Given the description of an element on the screen output the (x, y) to click on. 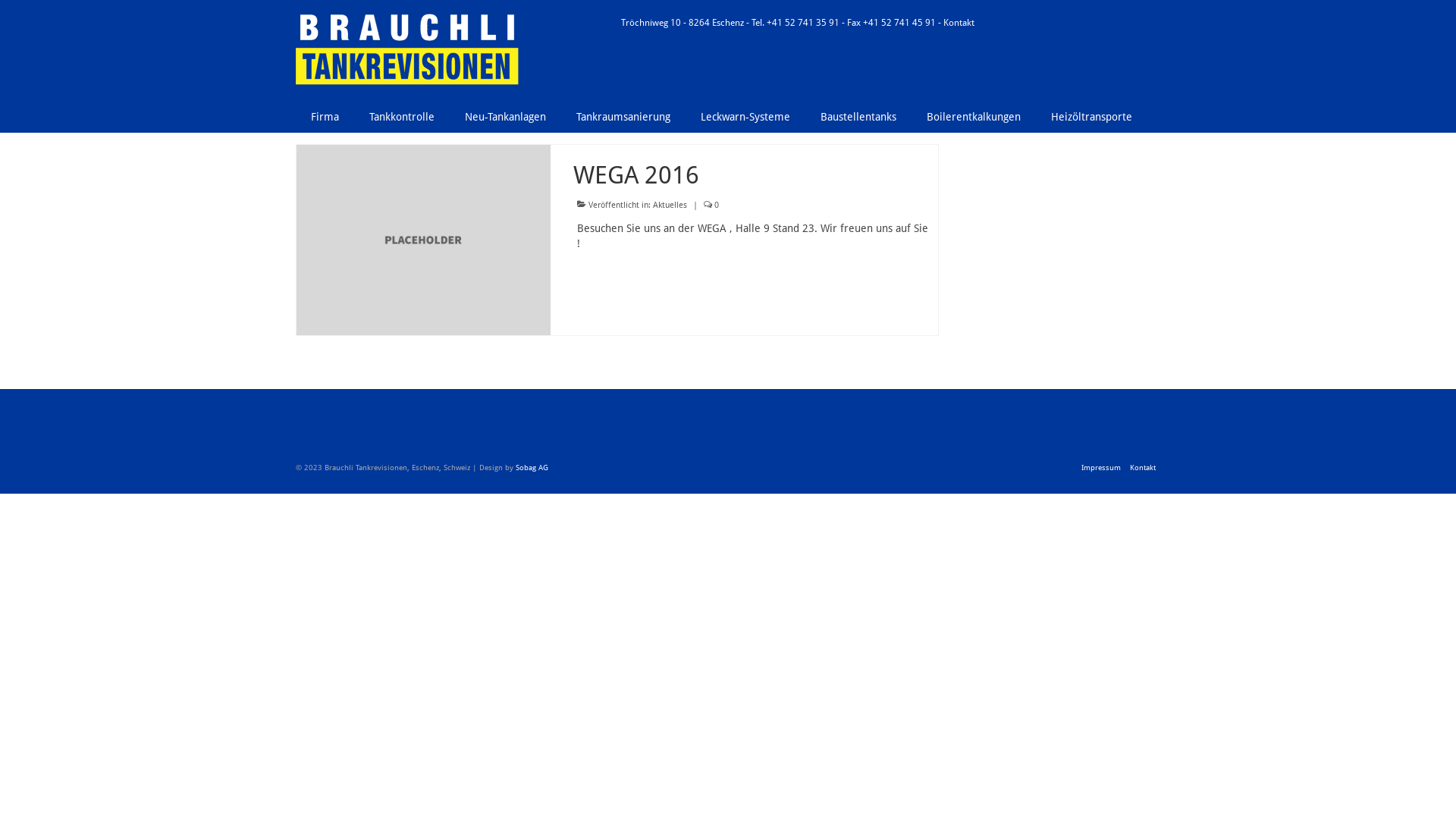
Leckwarn-Systeme Element type: text (745, 116)
WEGA 2016 Element type: text (755, 175)
Neu-Tankanlagen Element type: text (505, 116)
Baustellentanks Element type: text (858, 116)
Kontakt Element type: text (958, 22)
Tankkontrolle Element type: text (401, 116)
Impressum Element type: text (1100, 467)
Sobag AG Element type: text (531, 467)
Firma Element type: text (324, 116)
Aktuelles Element type: text (669, 205)
Kontakt Element type: text (1142, 467)
Tankraumsanierung Element type: text (623, 116)
WEGA 2016 Element type: hover (423, 238)
Boilerentkalkungen Element type: text (973, 116)
